Given the description of an element on the screen output the (x, y) to click on. 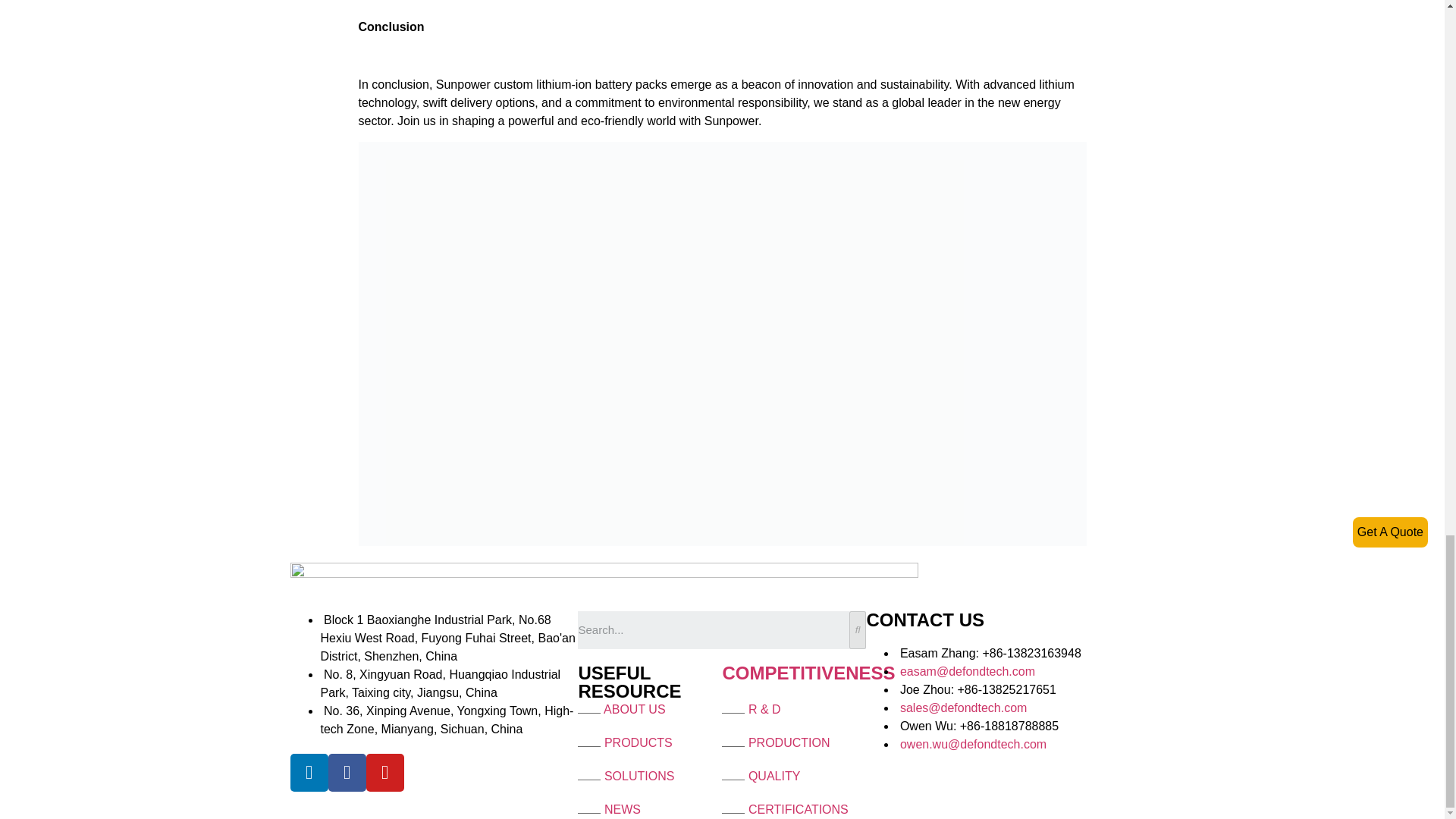
COMPETITIVENESS (808, 672)
